Given the description of an element on the screen output the (x, y) to click on. 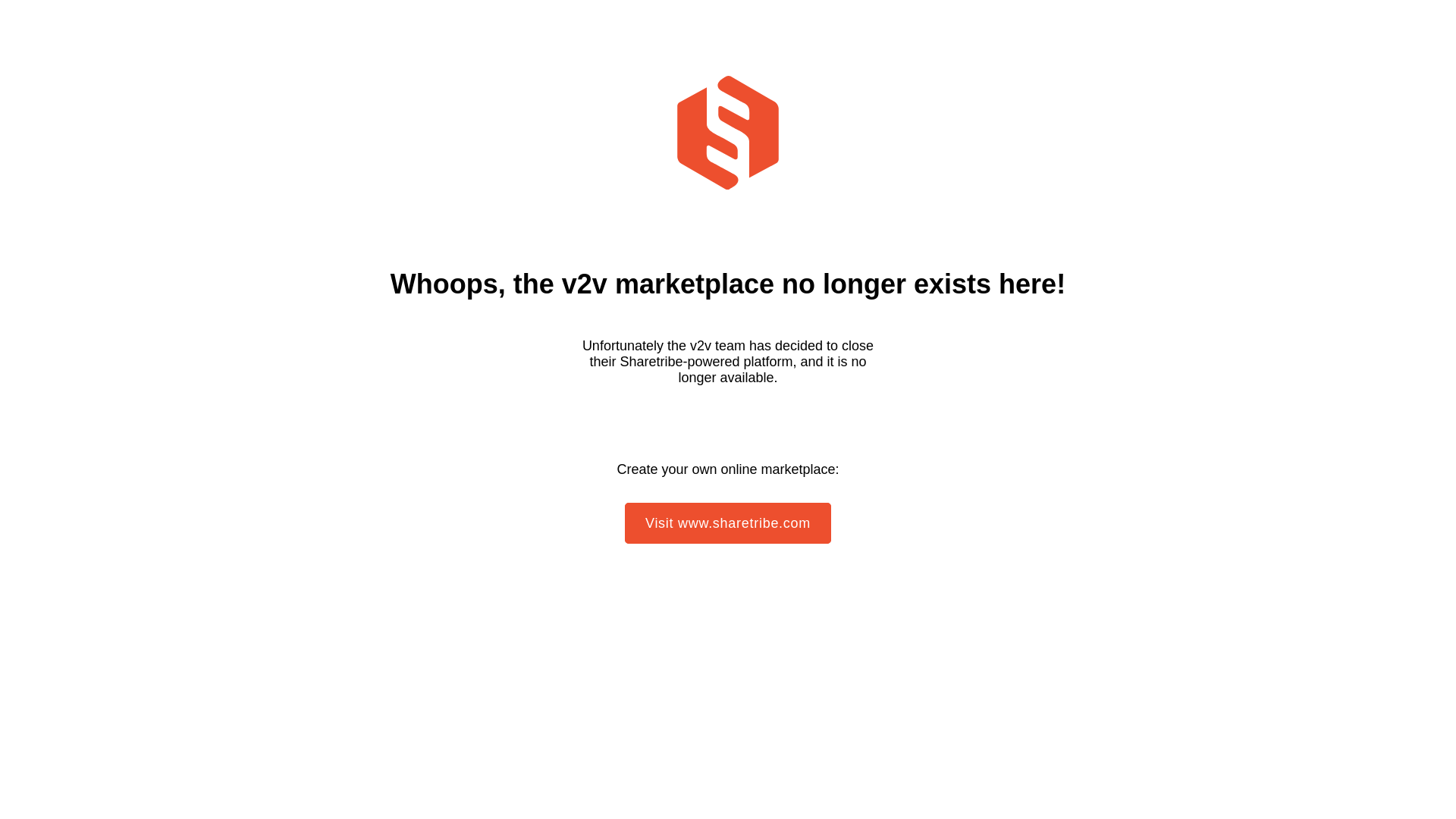
Visit www.sharetribe.com Element type: text (727, 522)
